Given the description of an element on the screen output the (x, y) to click on. 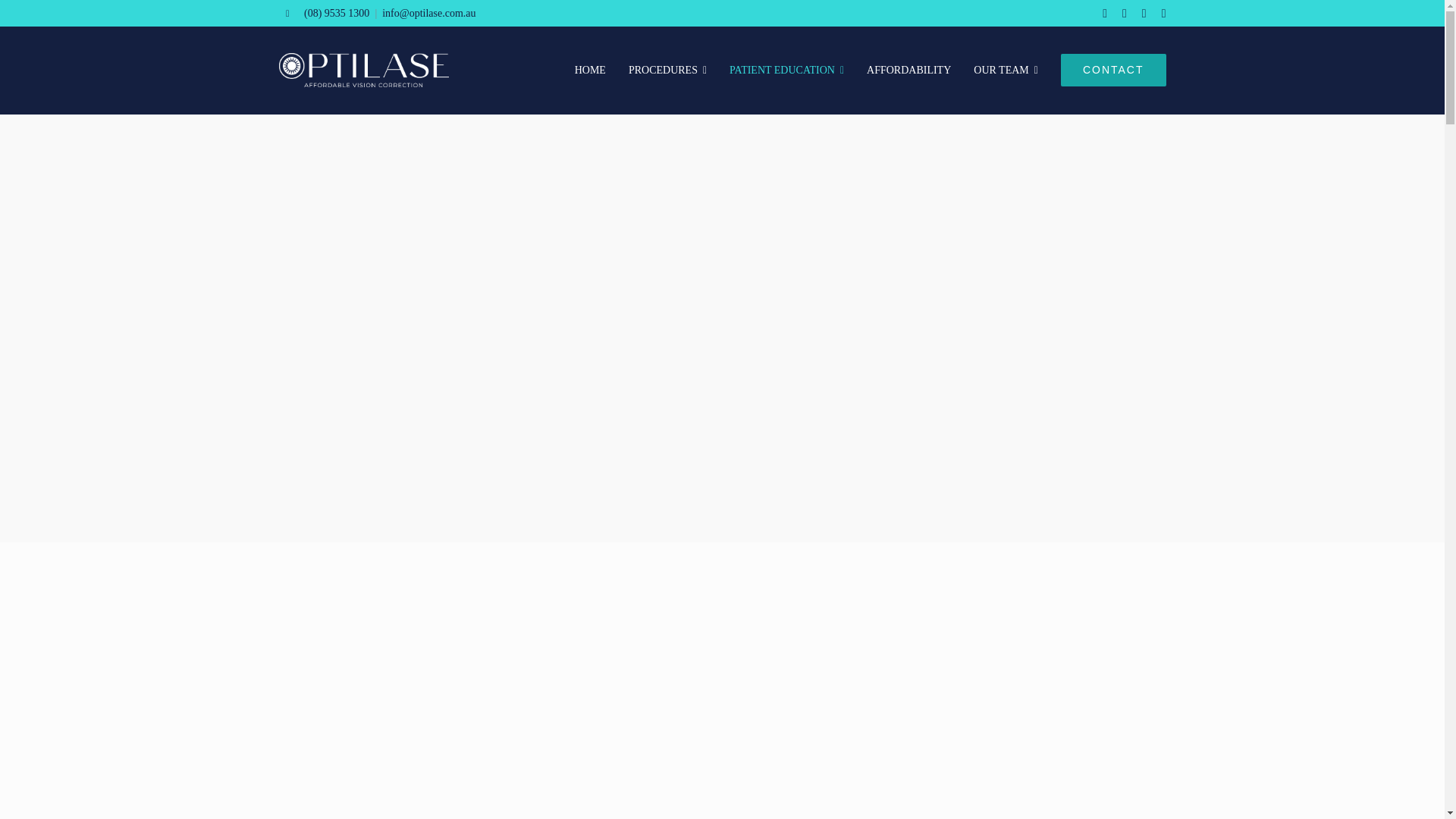
AFFORDABILITY (908, 70)
PATIENT EDUCATION (786, 70)
OUR TEAM (1006, 70)
PROCEDURES (667, 70)
CONTACT (1113, 70)
